Given the description of an element on the screen output the (x, y) to click on. 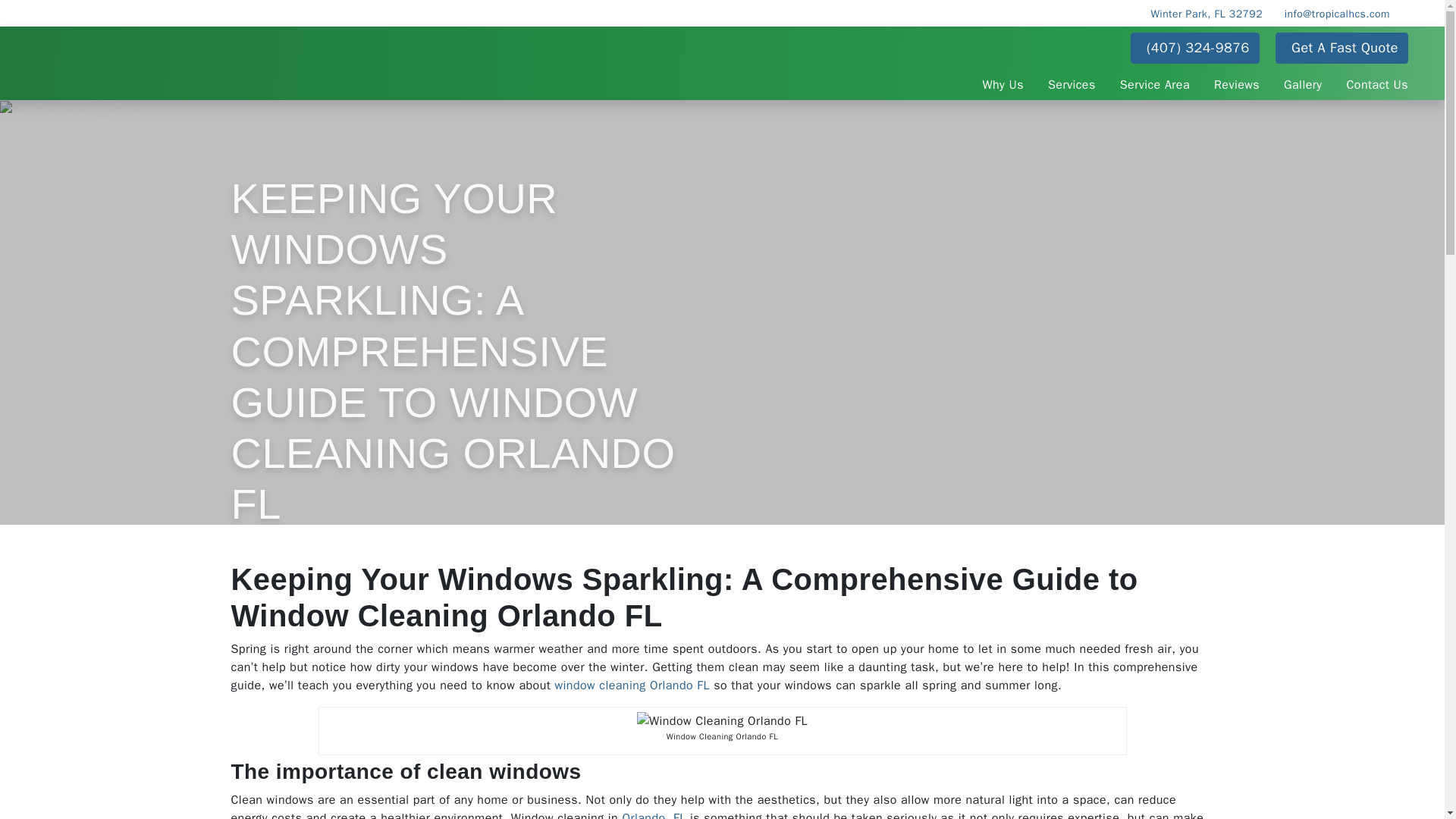
Why Us (1002, 81)
Gallery (1302, 81)
Services (1071, 81)
window cleaning Orlando FL (632, 685)
Orlando, FL (653, 814)
Get A Fast Quote (1341, 47)
Reviews (1236, 81)
Contact Us (1377, 81)
Service Area (1155, 81)
